Given the description of an element on the screen output the (x, y) to click on. 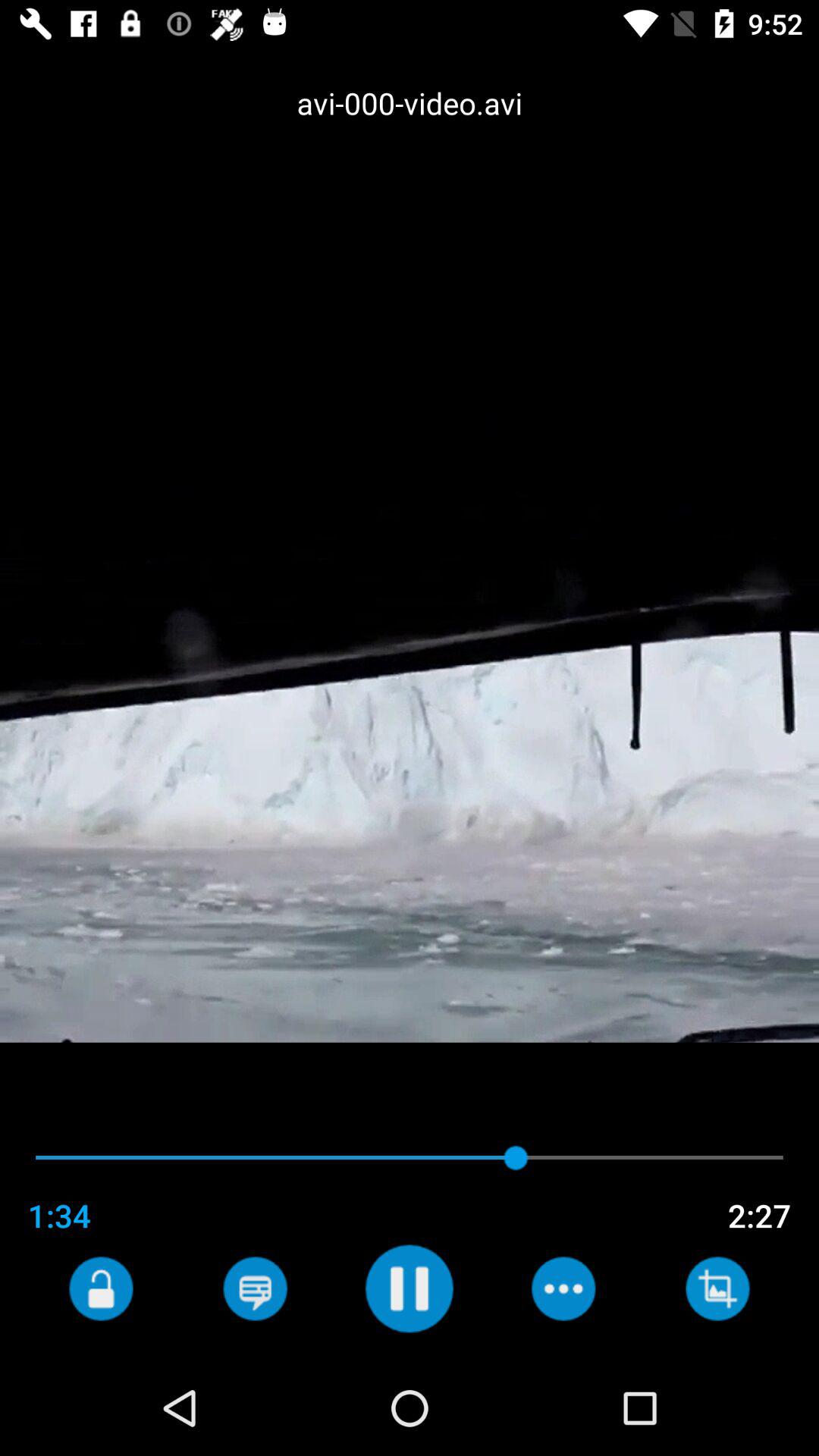
pause (409, 1288)
